Given the description of an element on the screen output the (x, y) to click on. 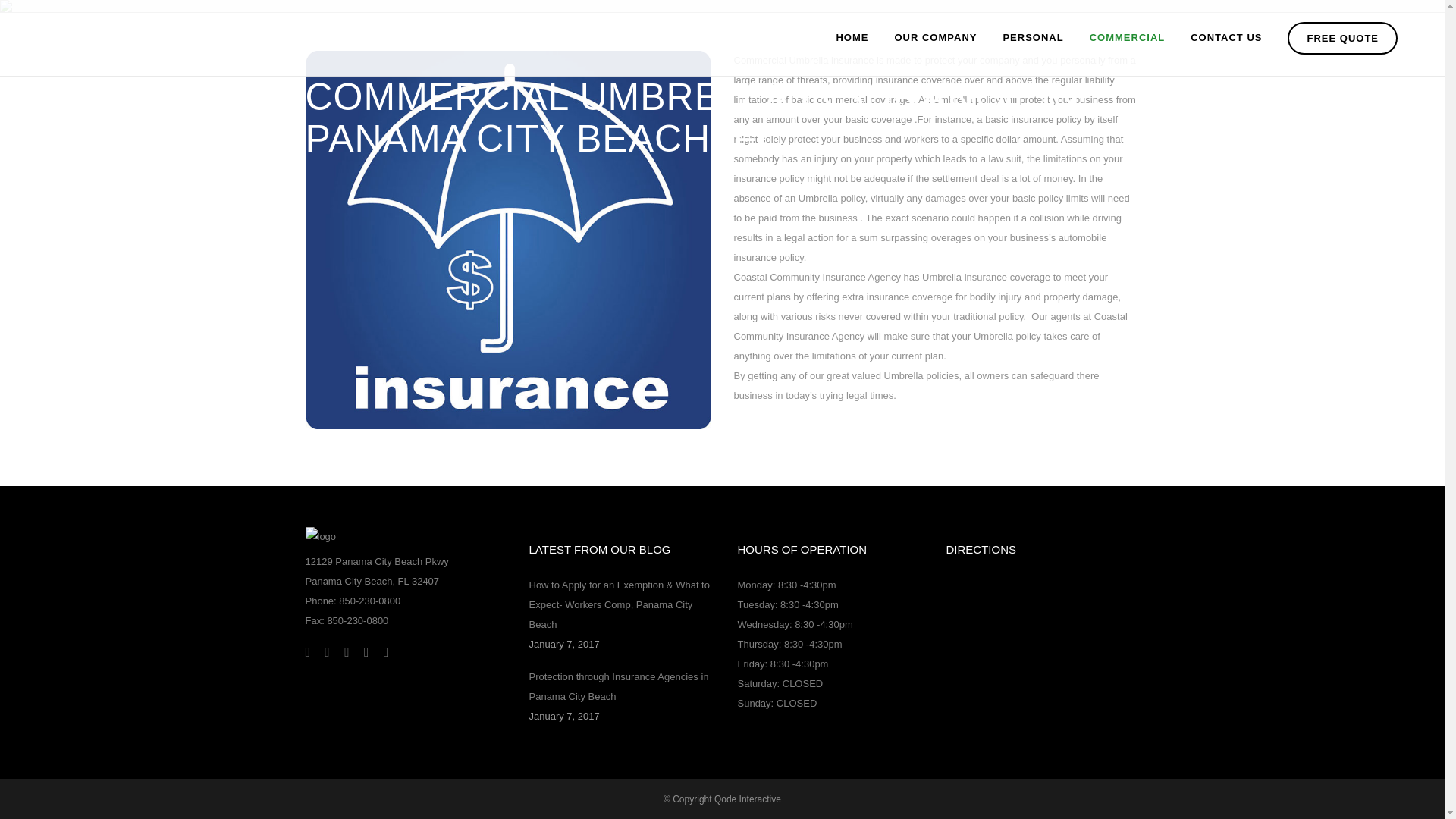
OUR COMPANY (935, 38)
FREE QUOTE (1342, 37)
COMMERCIAL (1127, 38)
CONTACT US (1226, 38)
PERSONAL (1032, 38)
